Given the description of an element on the screen output the (x, y) to click on. 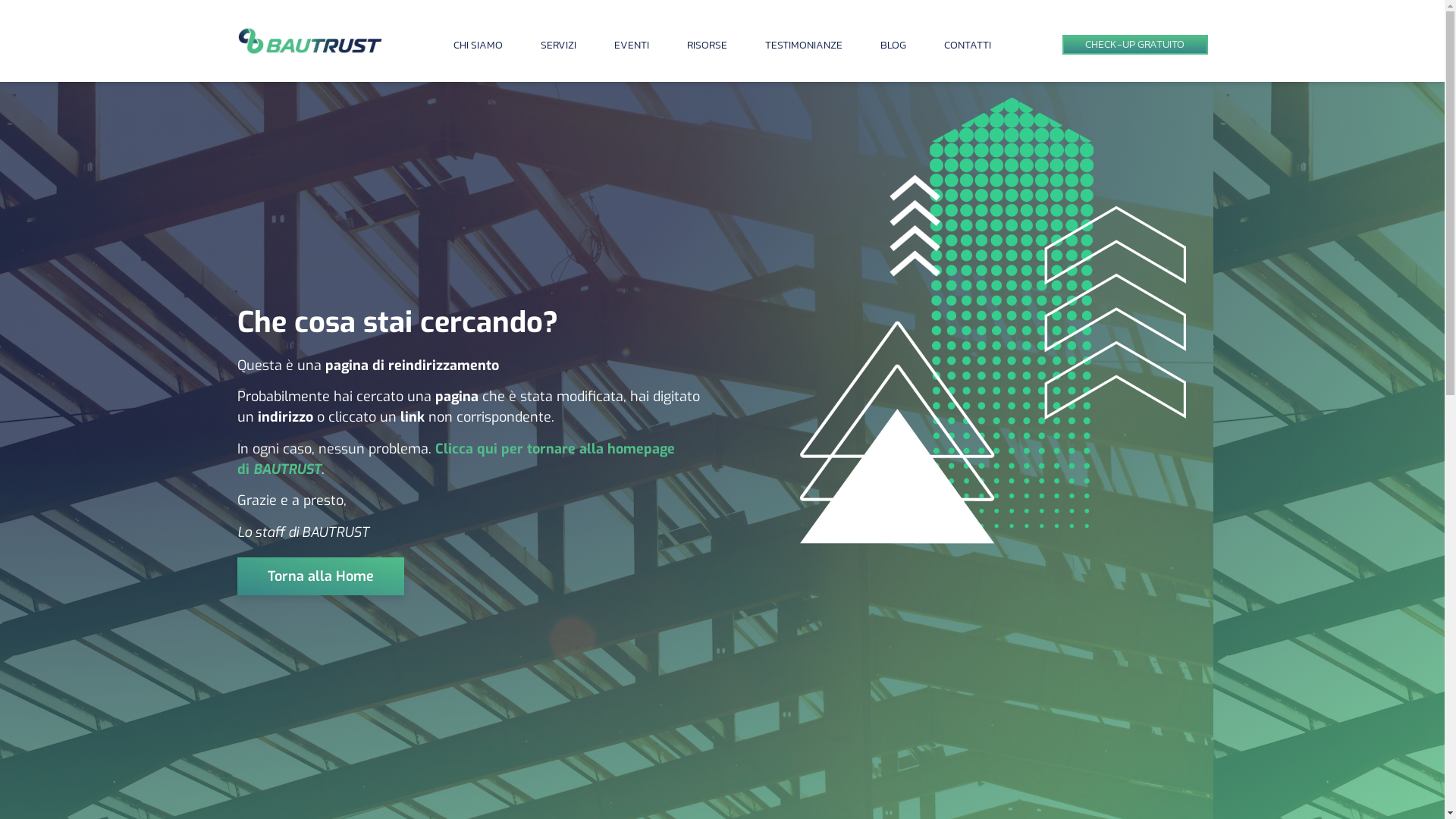
CONTATTI Element type: text (967, 45)
EVENTI Element type: text (631, 45)
TESTIMONIANZE Element type: text (803, 45)
BLOG Element type: text (893, 45)
CHI SIAMO Element type: text (477, 45)
RISORSE Element type: text (707, 45)
Torna alla Home Element type: text (319, 576)
Clicca qui per tornare alla homepage di BAUTRUST Element type: text (455, 458)
CHECK-UP GRATUITO Element type: text (1134, 44)
SERVIZI Element type: text (558, 45)
